Given the description of an element on the screen output the (x, y) to click on. 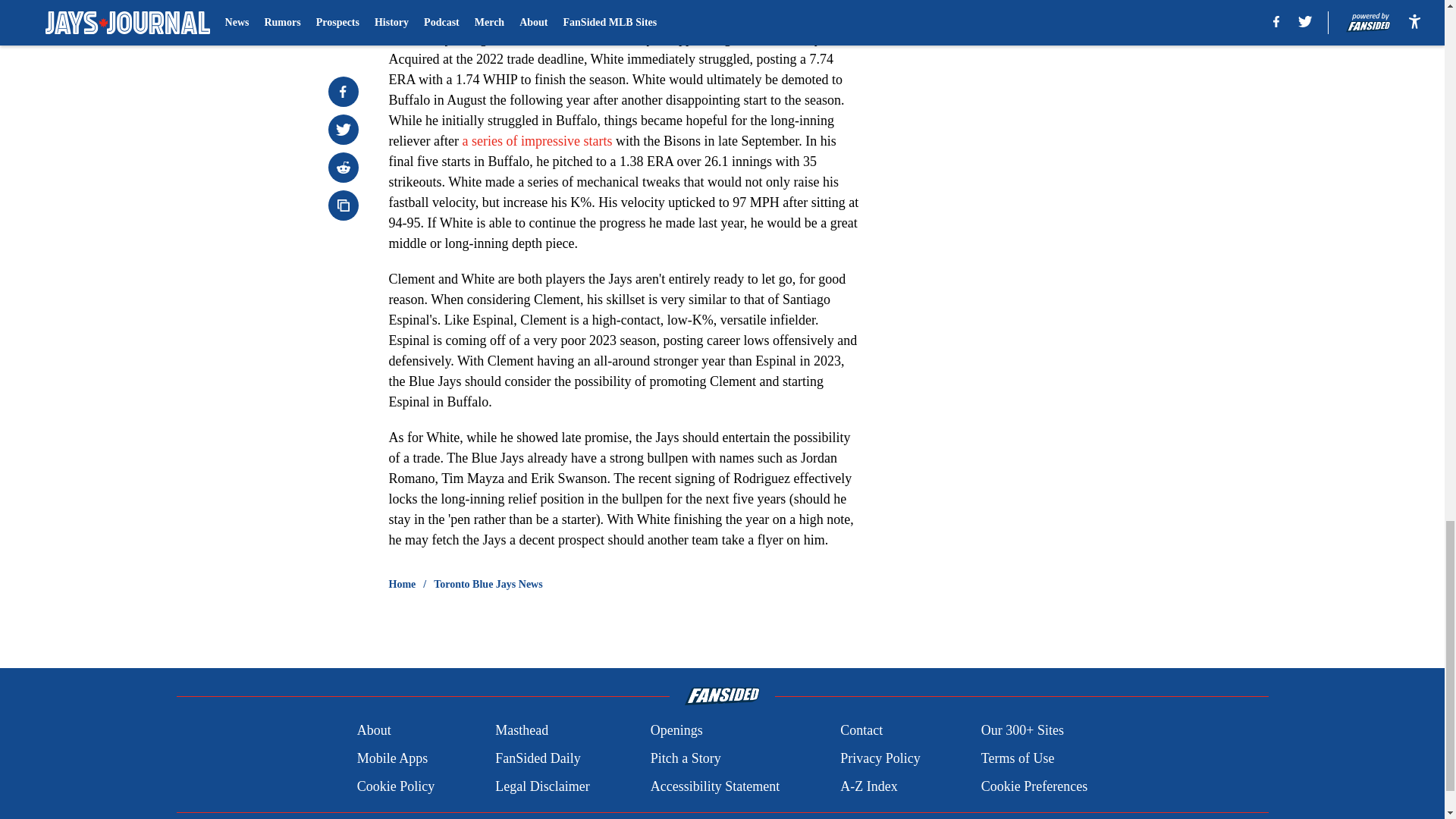
Masthead (521, 730)
Contact (861, 730)
Home (401, 584)
Toronto Blue Jays News (488, 584)
Terms of Use (1017, 758)
About (373, 730)
Legal Disclaimer (542, 786)
Privacy Policy (880, 758)
FanSided Daily (537, 758)
Cookie Policy (395, 786)
Accessibility Statement (714, 786)
Pitch a Story (685, 758)
a series of impressive starts (536, 140)
A-Z Index (868, 786)
Mobile Apps (392, 758)
